Given the description of an element on the screen output the (x, y) to click on. 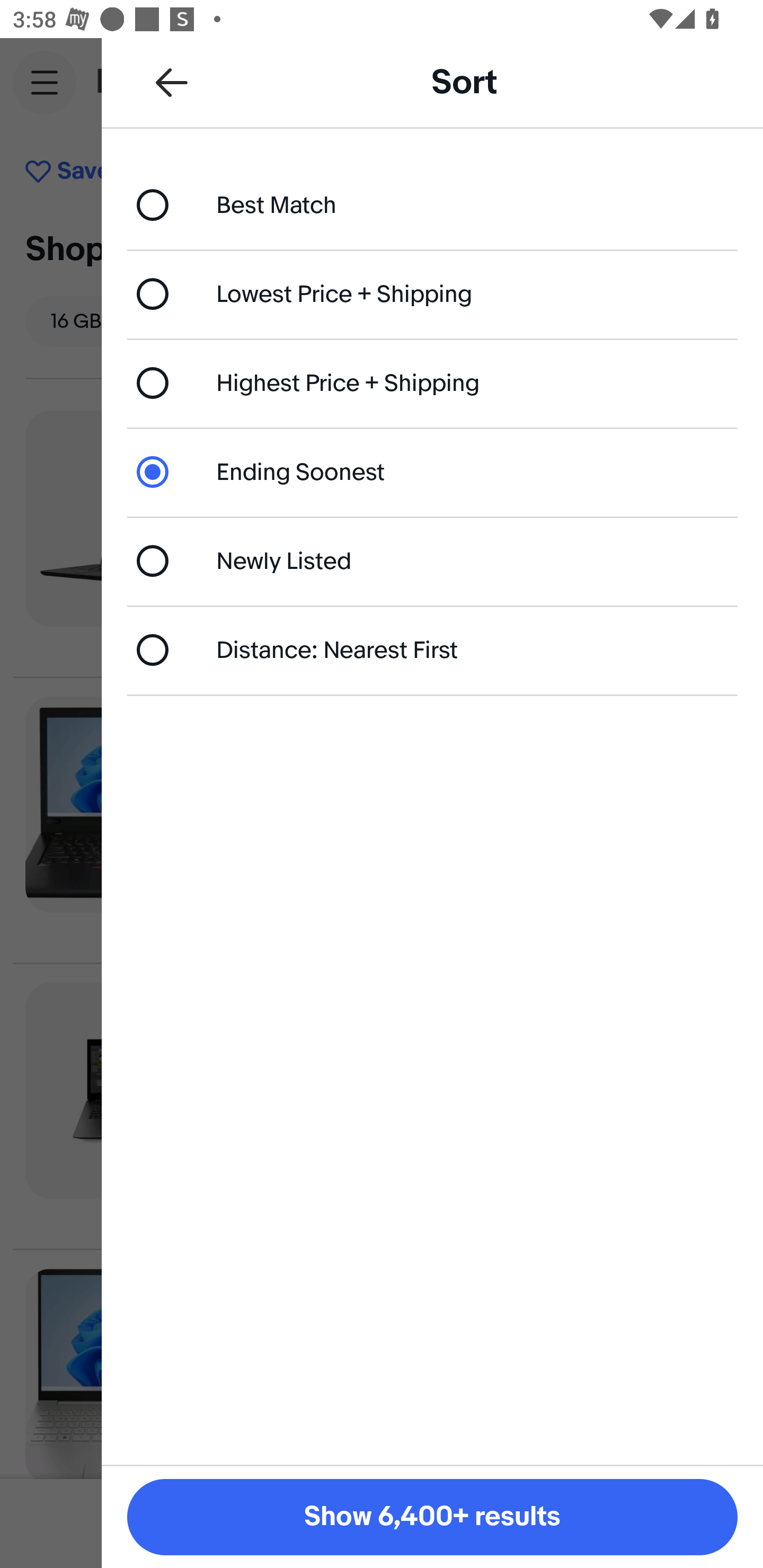
Back to all refinements (171, 81)
Best Match (432, 204)
Lowest Price + Shipping (432, 293)
Highest Price + Shipping (432, 383)
Ending Soonest - currently selected Ending Soonest (432, 471)
Newly Listed (432, 560)
Distance: Nearest First (432, 649)
Show 6,400+ results (432, 1516)
